Given the description of an element on the screen output the (x, y) to click on. 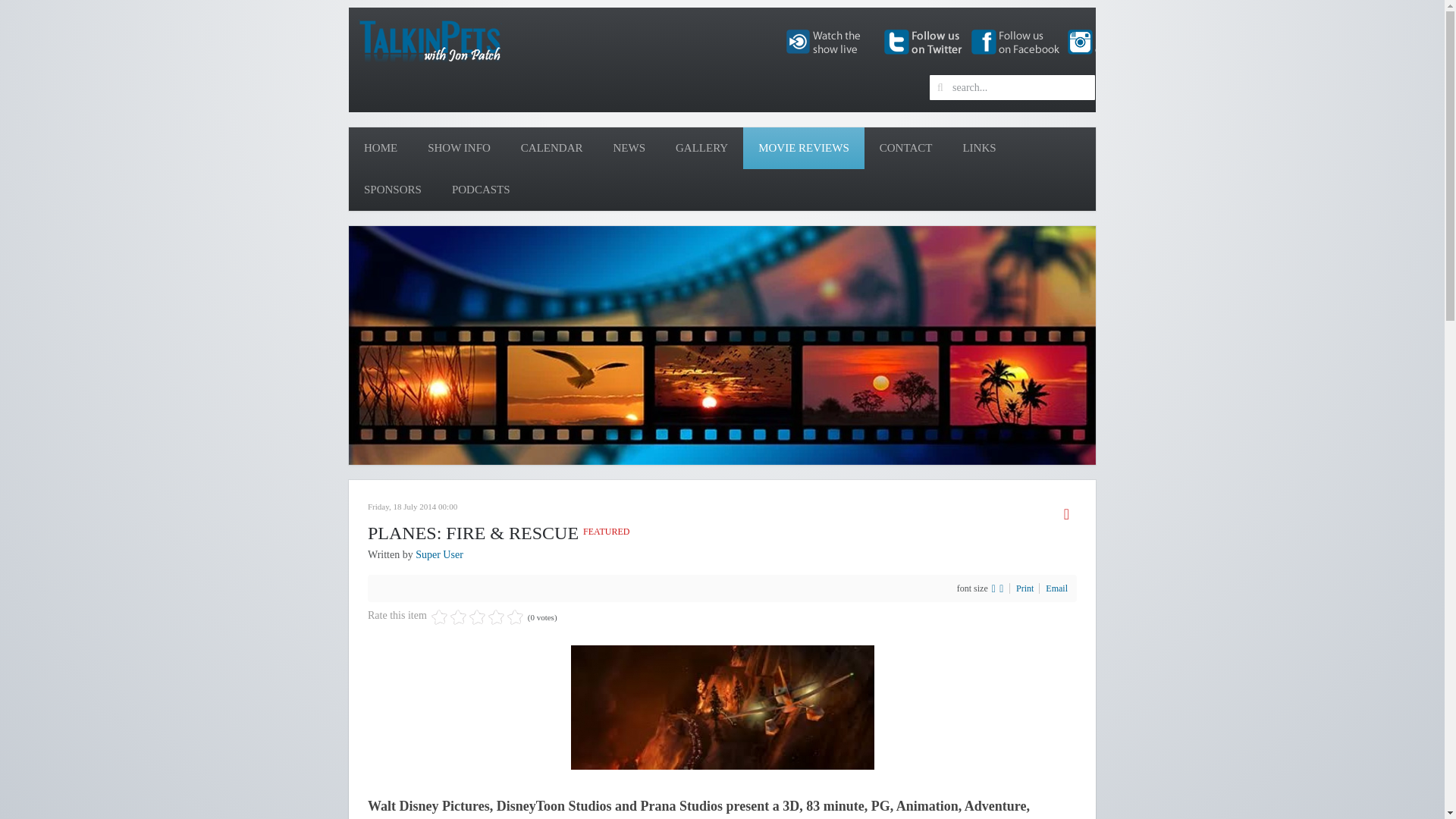
MOVIE REVIEWS (803, 147)
SPONSORS (392, 189)
2 (448, 617)
5 (476, 617)
HOME (380, 147)
YouTube video player (561, 345)
4 (467, 617)
Print (1025, 588)
Email (1056, 588)
4 stars out of 5 (467, 617)
